Given the description of an element on the screen output the (x, y) to click on. 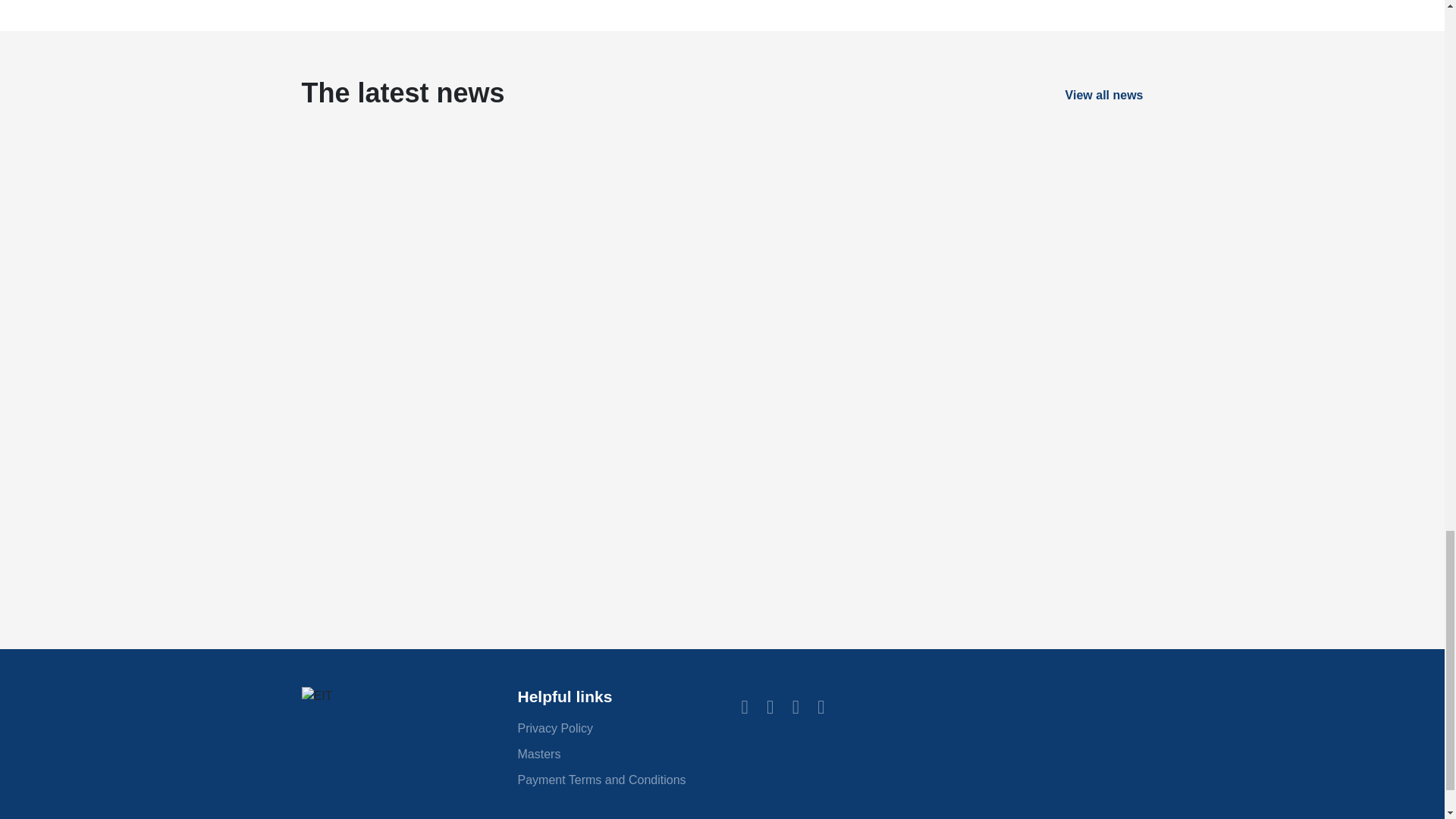
Privacy Policy (554, 727)
Payment Terms and Conditions (600, 779)
Masters (538, 753)
View all news (1103, 94)
